Given the description of an element on the screen output the (x, y) to click on. 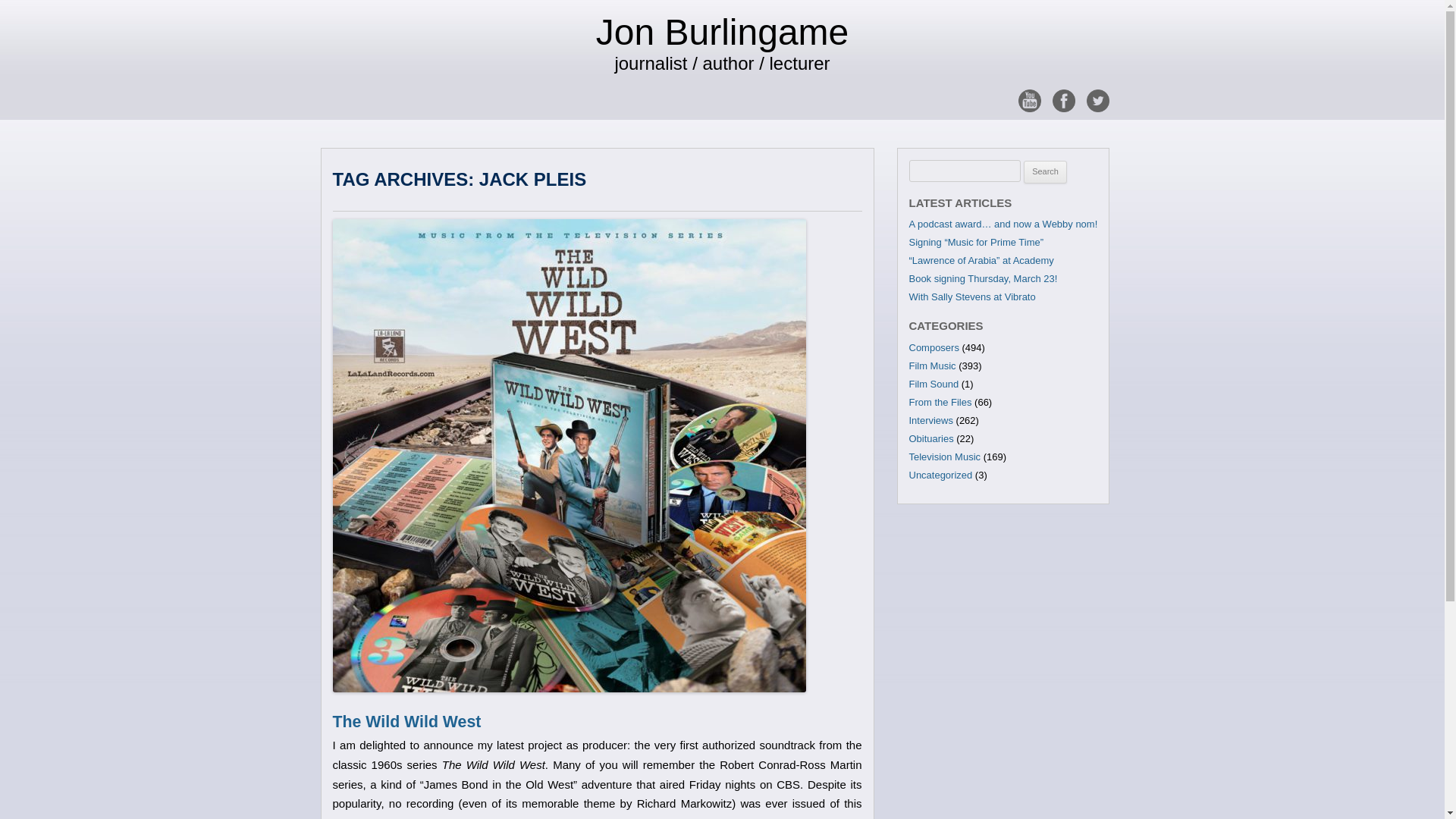
Jon Burlingame (721, 32)
Television Music (943, 456)
Search (1045, 171)
Search (1045, 171)
Book signing Thursday, March 23! (982, 278)
Film Music (931, 365)
Jon Burlingame (721, 32)
From the Files (939, 401)
Composers (933, 347)
Obituaries (930, 438)
